Given the description of an element on the screen output the (x, y) to click on. 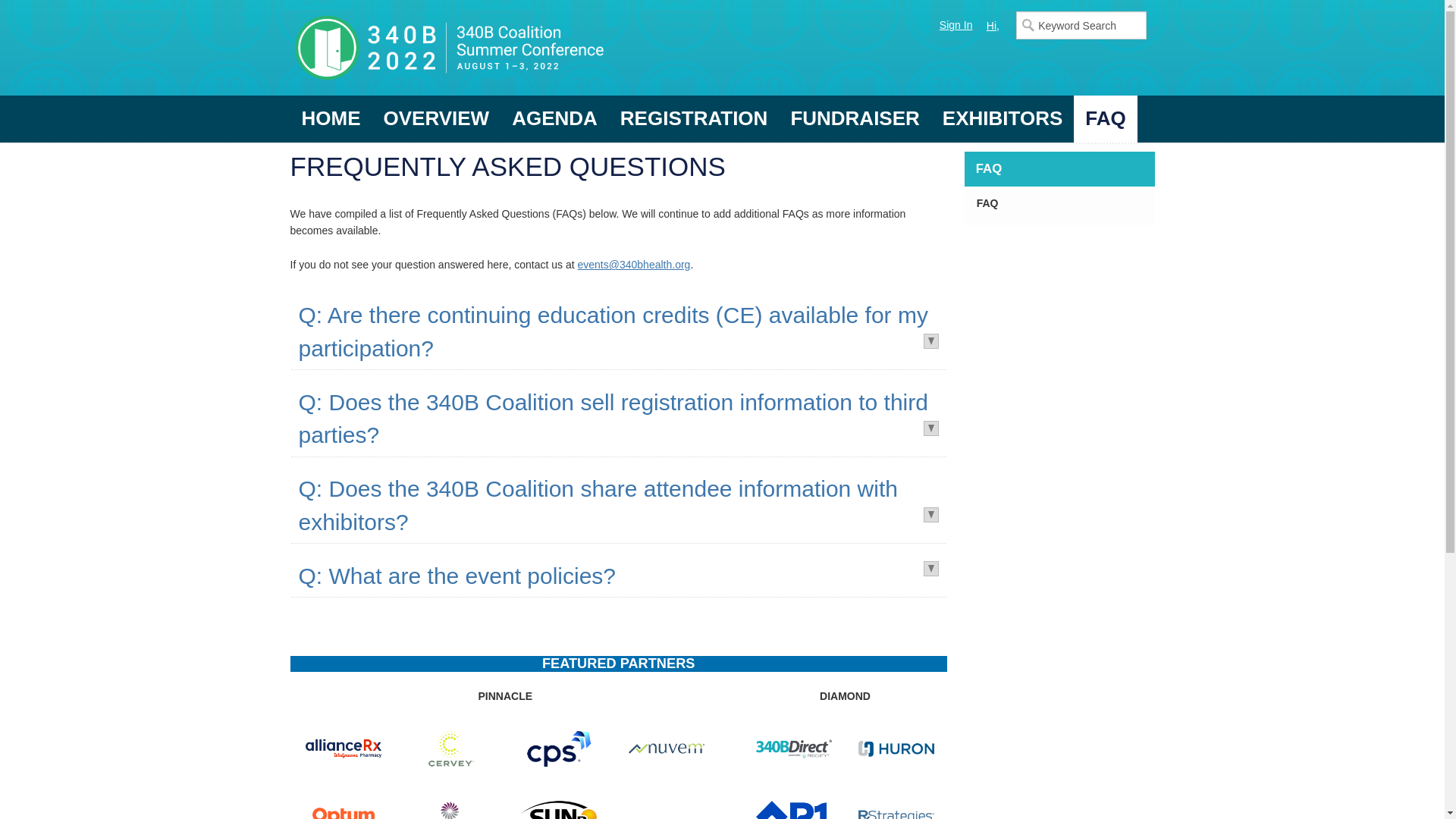
HOME (330, 118)
AGENDA (554, 118)
Hi, (991, 25)
EXHIBITORS (1002, 118)
REGISTRATION (693, 118)
Sign In (955, 24)
2022 Summer Conference Home (505, 47)
FAQ (1105, 118)
Keyword Search (1081, 25)
OVERVIEW (435, 118)
Q: What are the event policies? (456, 575)
FUNDRAISER (854, 118)
Keyword Search (1081, 25)
